Given the description of an element on the screen output the (x, y) to click on. 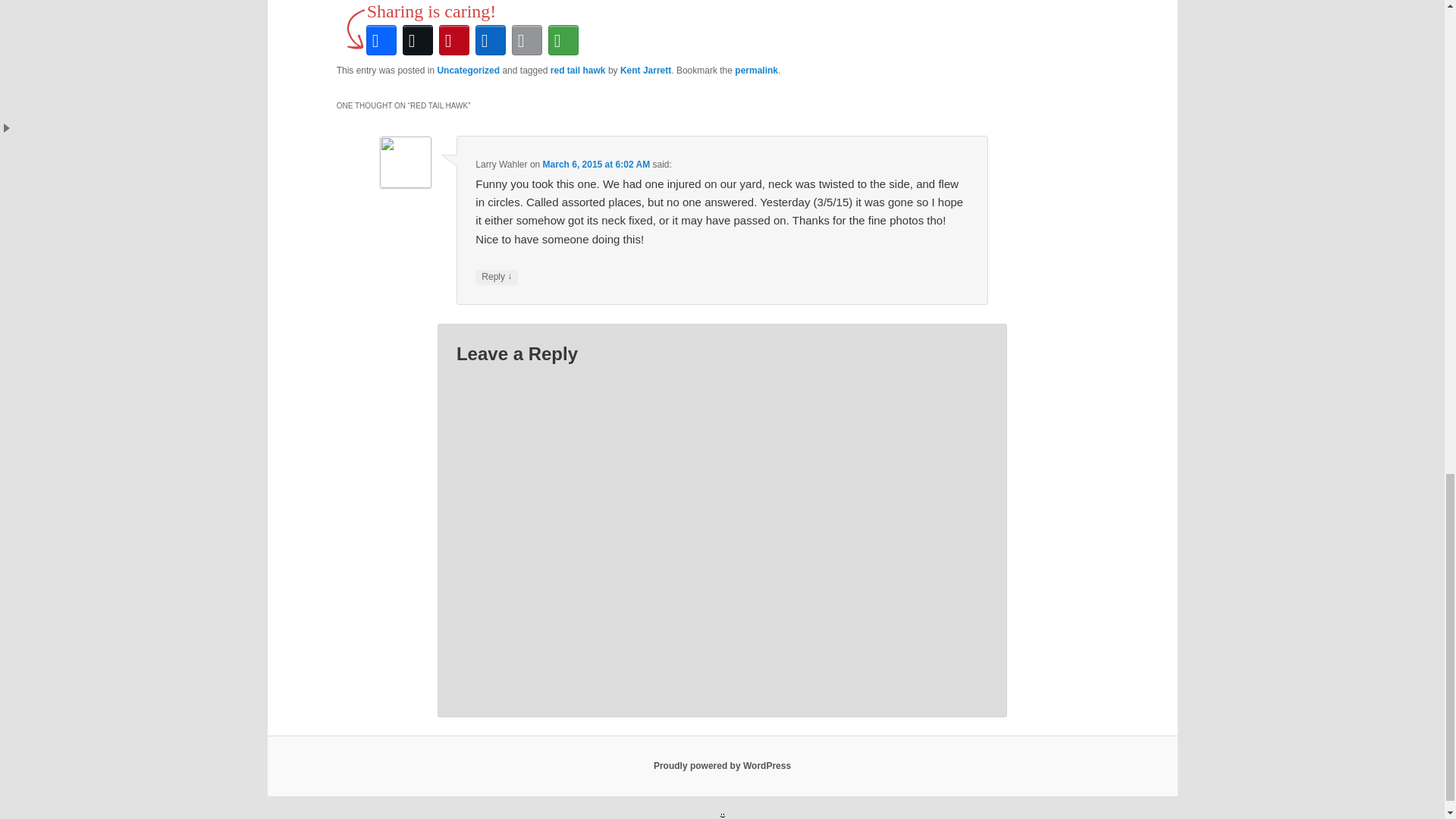
permalink (756, 70)
LinkedIn (489, 40)
Kent Jarrett (645, 70)
Email This (526, 40)
Pinterest (453, 40)
Facebook (380, 40)
Proudly powered by WordPress (721, 765)
Uncategorized (467, 70)
red tail hawk (577, 70)
